Given the description of an element on the screen output the (x, y) to click on. 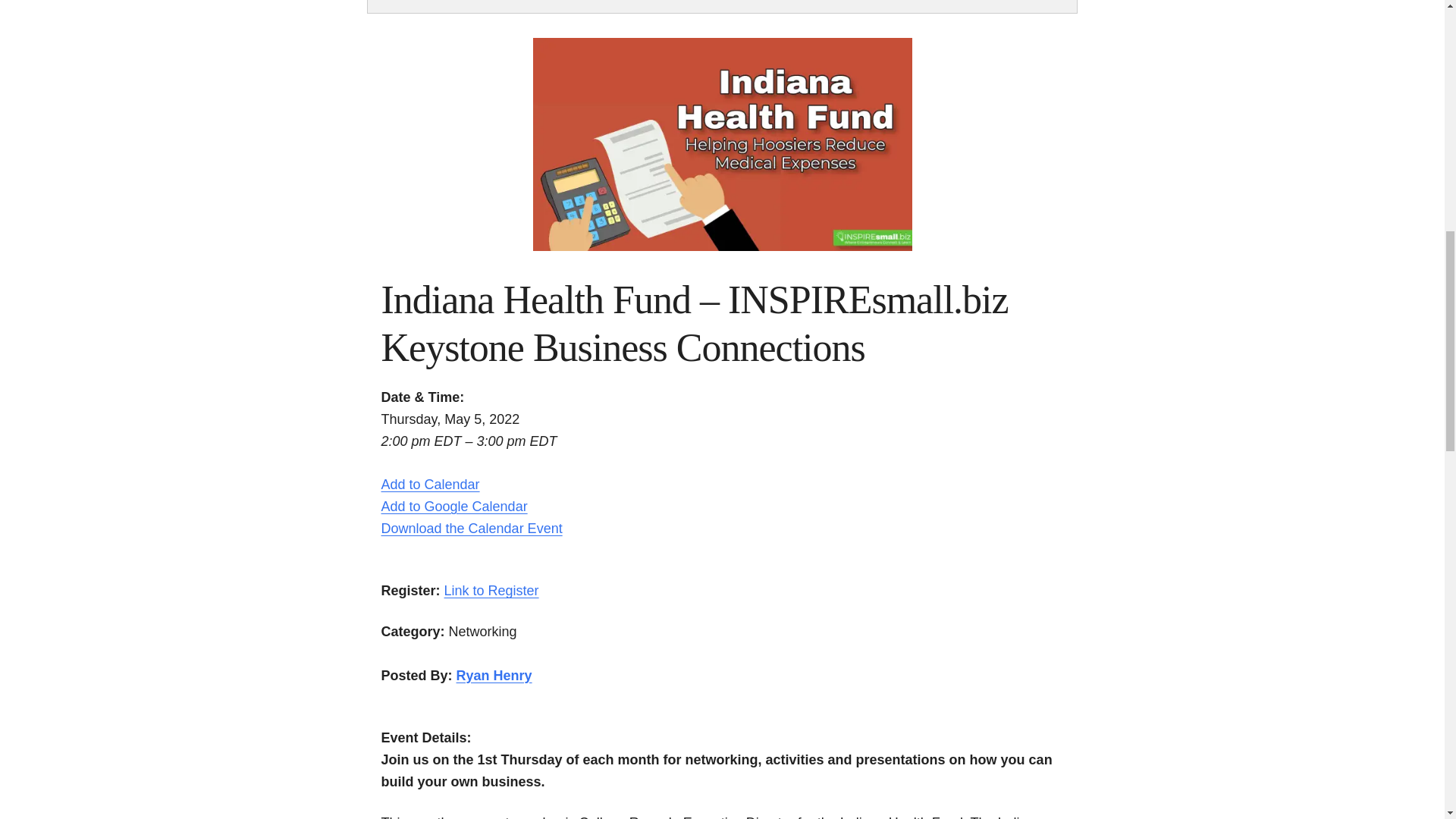
Ryan Henry (494, 675)
Link to Register (491, 590)
Add to Google Calendar (453, 506)
Add to Calendar (429, 484)
Download the Calendar Event (471, 528)
